Given the description of an element on the screen output the (x, y) to click on. 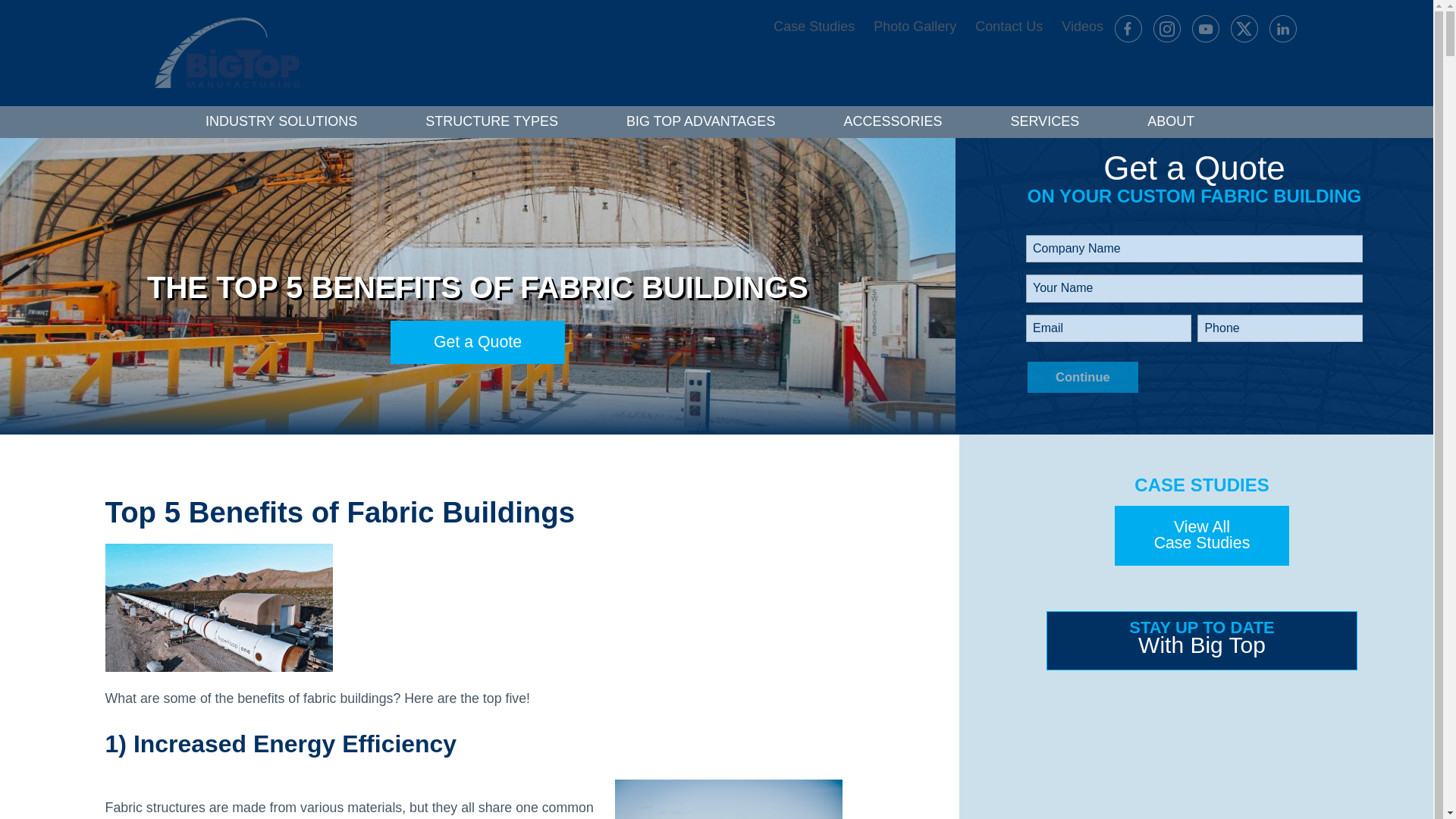
Photo Gallery (907, 26)
Videos (1074, 26)
Contact Us (1000, 26)
Get Your Quote (477, 342)
STRUCTURE TYPES (491, 122)
INDUSTRY SOLUTIONS (281, 122)
Continue (1082, 377)
BIG TOP ADVANTAGES (700, 122)
Case Studies (806, 26)
